Given the description of an element on the screen output the (x, y) to click on. 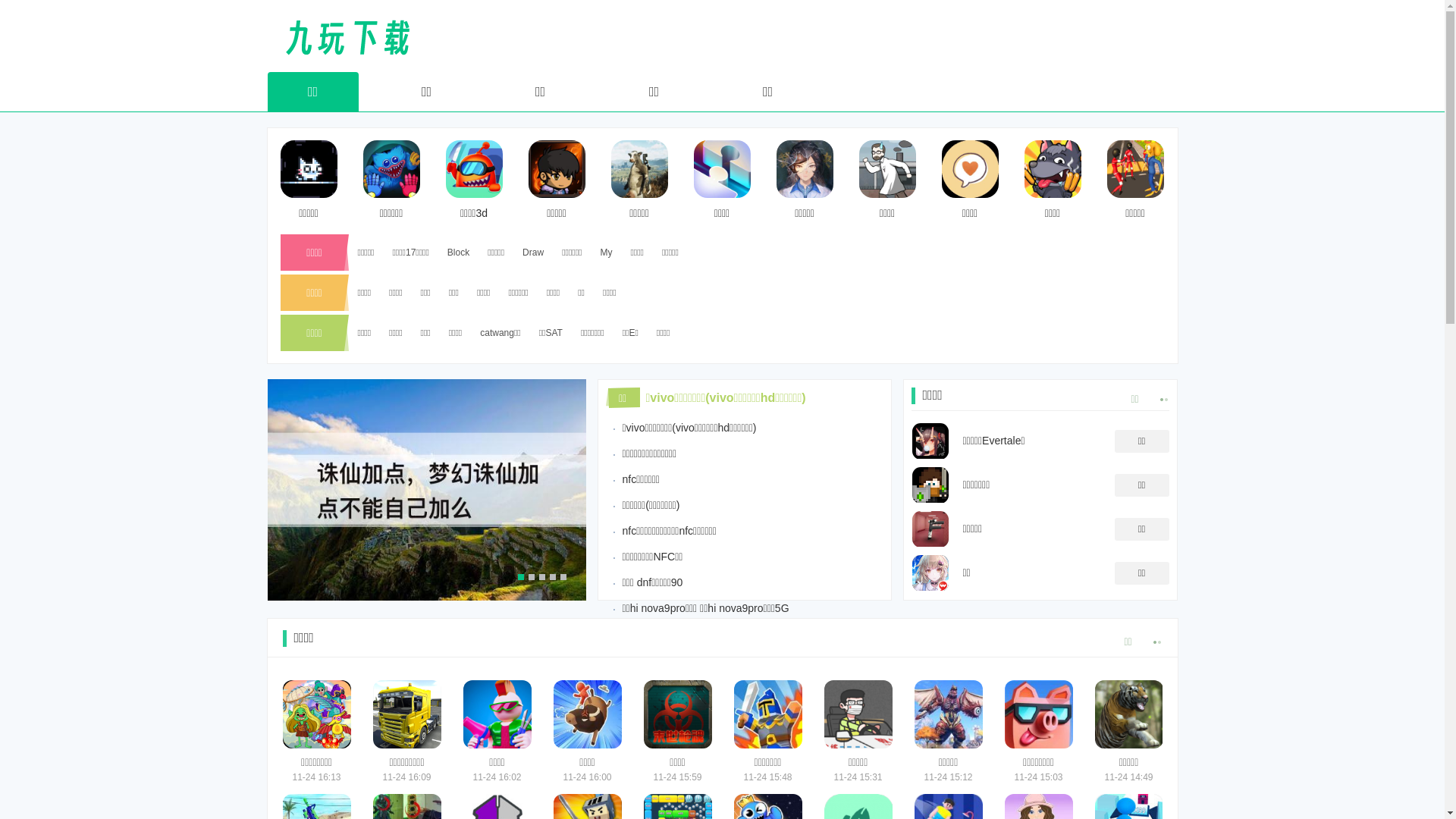
Block Element type: text (458, 252)
My Element type: text (605, 252)
Draw Element type: text (532, 252)
